Given the description of an element on the screen output the (x, y) to click on. 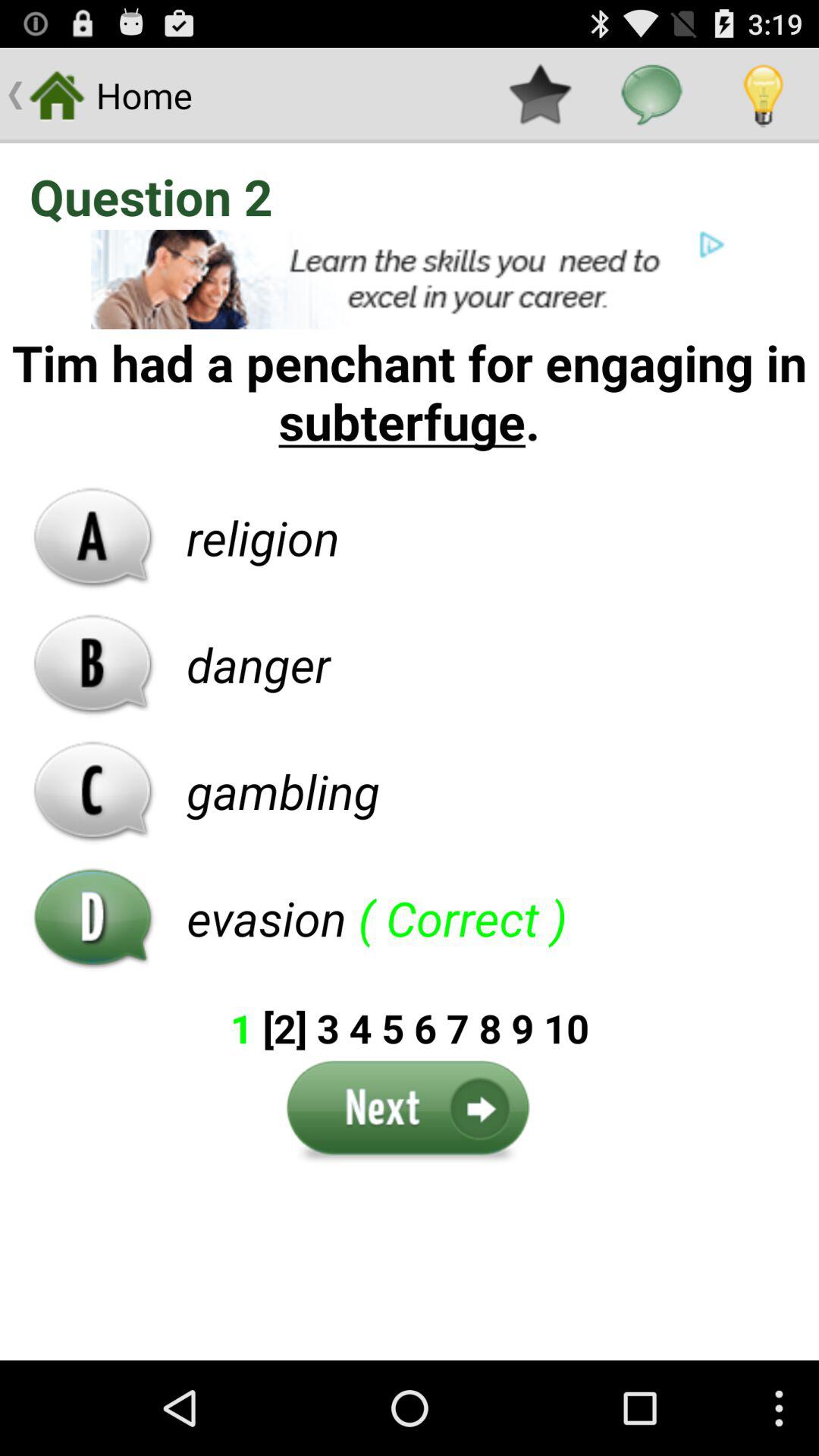
advertisement link (409, 279)
